Given the description of an element on the screen output the (x, y) to click on. 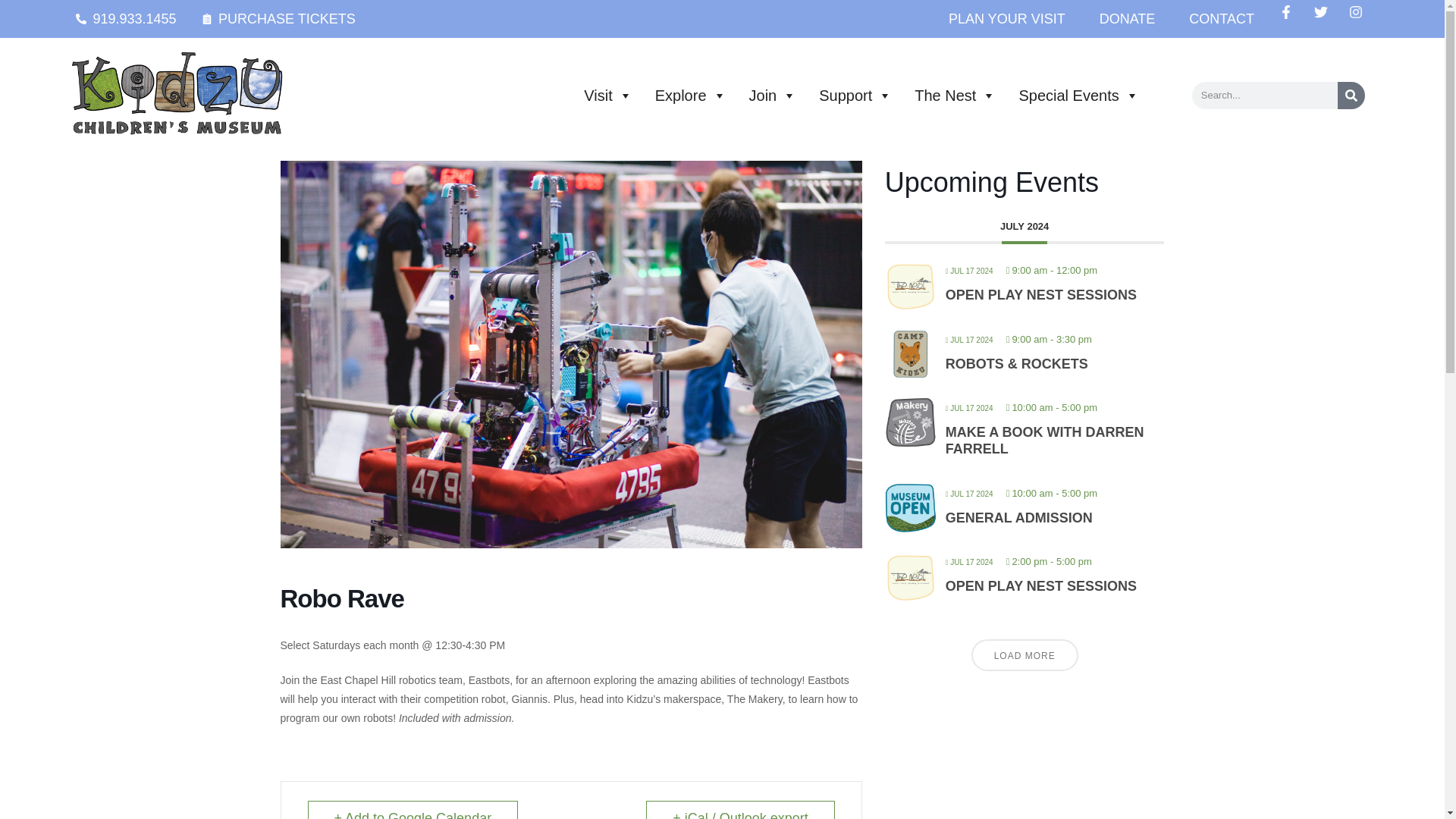
Visit (607, 95)
919.933.1455 (125, 19)
Join (773, 95)
CONTACT (1221, 18)
Explore (690, 95)
PURCHASE TICKETS (278, 19)
DONATE (1127, 18)
Support (854, 95)
PLAN YOUR VISIT (1007, 18)
